Given the description of an element on the screen output the (x, y) to click on. 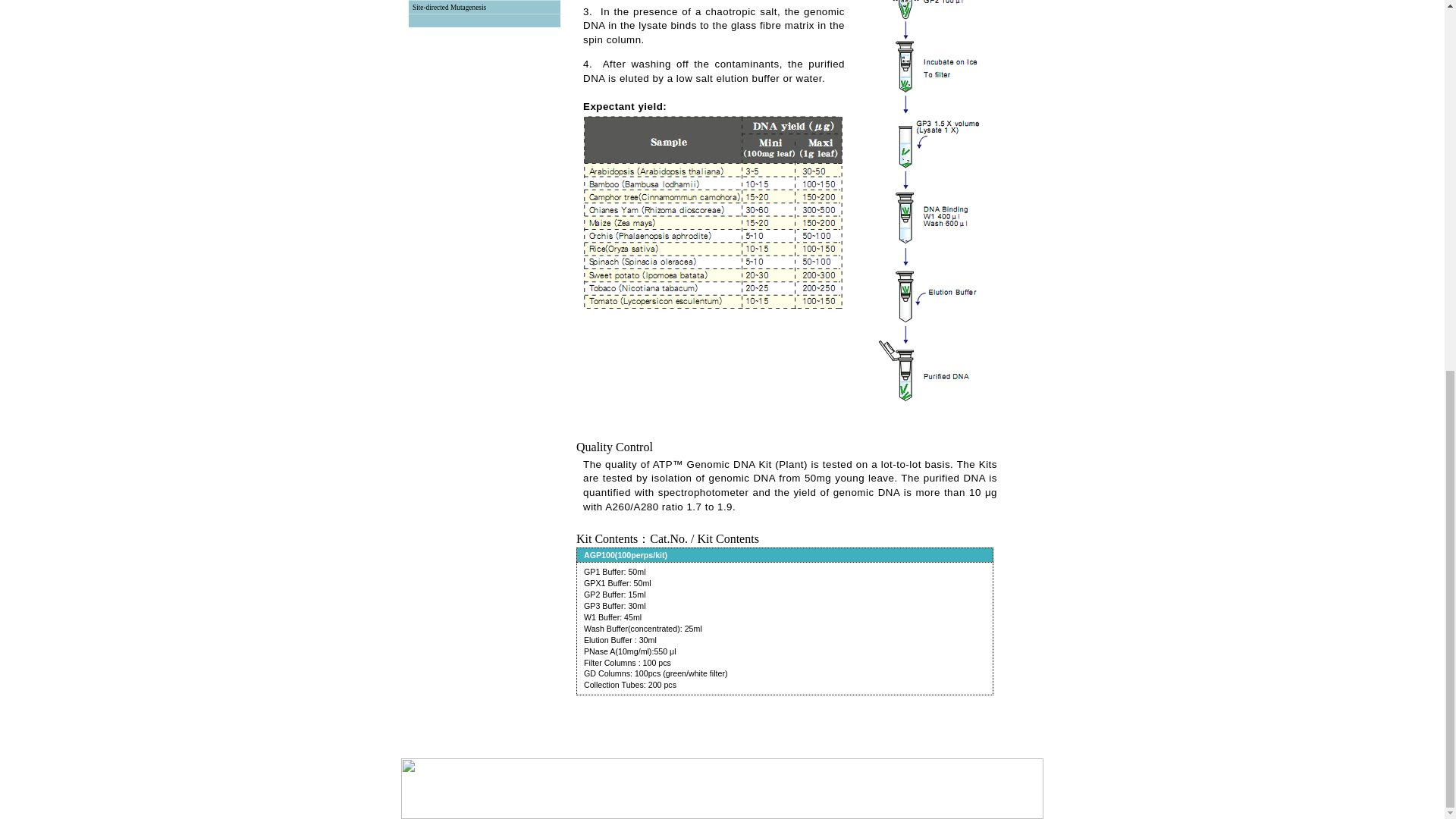
Site-directed Mutagenesis (449, 7)
